Given the description of an element on the screen output the (x, y) to click on. 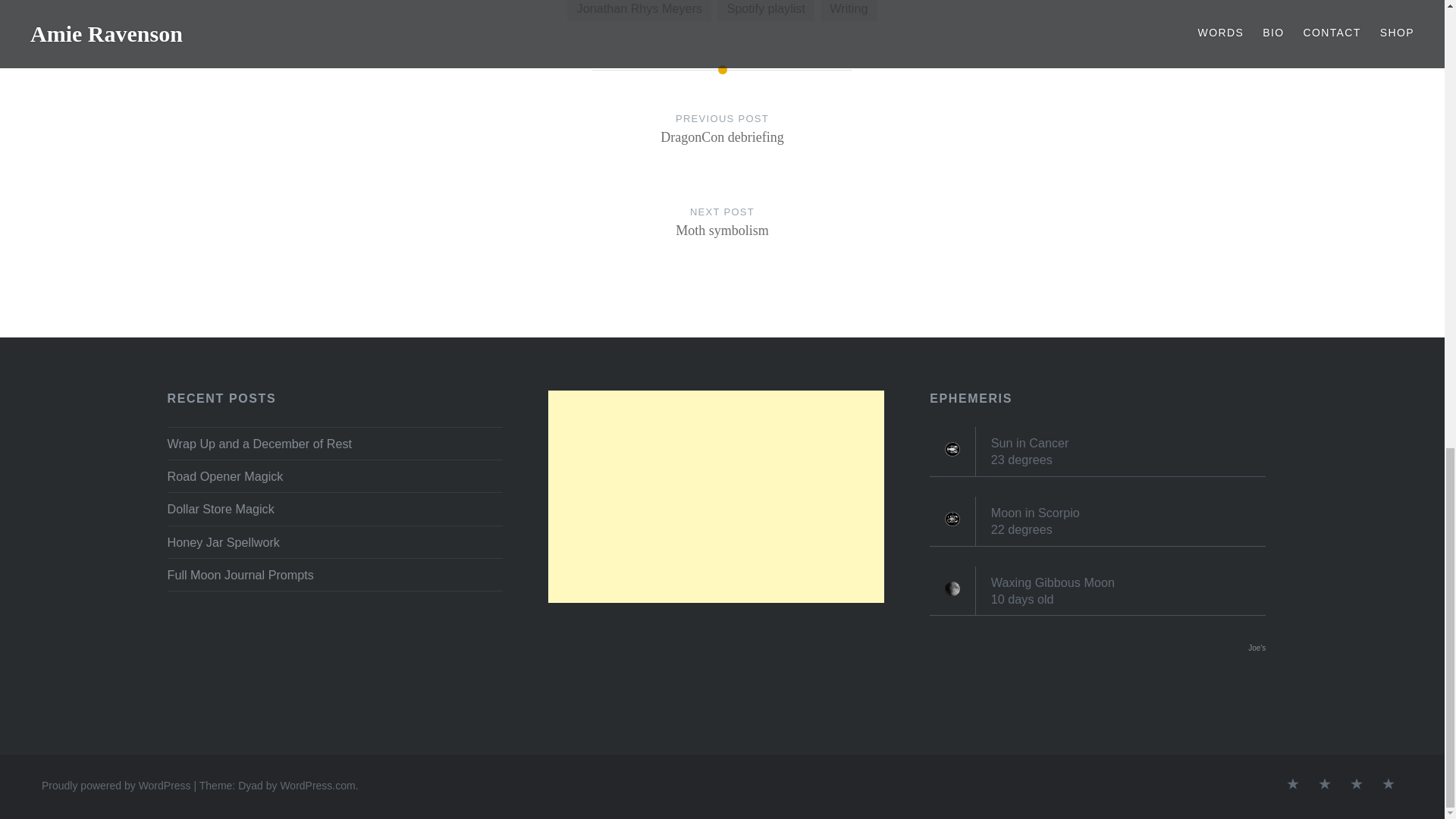
Joe's (1256, 647)
Proudly powered by WordPress (116, 785)
Cancer (951, 449)
WORDS (722, 236)
BIO (1292, 784)
Jonathan Rhys Meyers (1324, 784)
Full Moon Journal Prompts (639, 10)
CONTACT (334, 574)
Writing (1356, 784)
Waxing Gibbous Moon (848, 10)
Dollar Store Magick (951, 589)
Wrap Up and a December of Rest (334, 508)
Scorpio (722, 143)
